Given the description of an element on the screen output the (x, y) to click on. 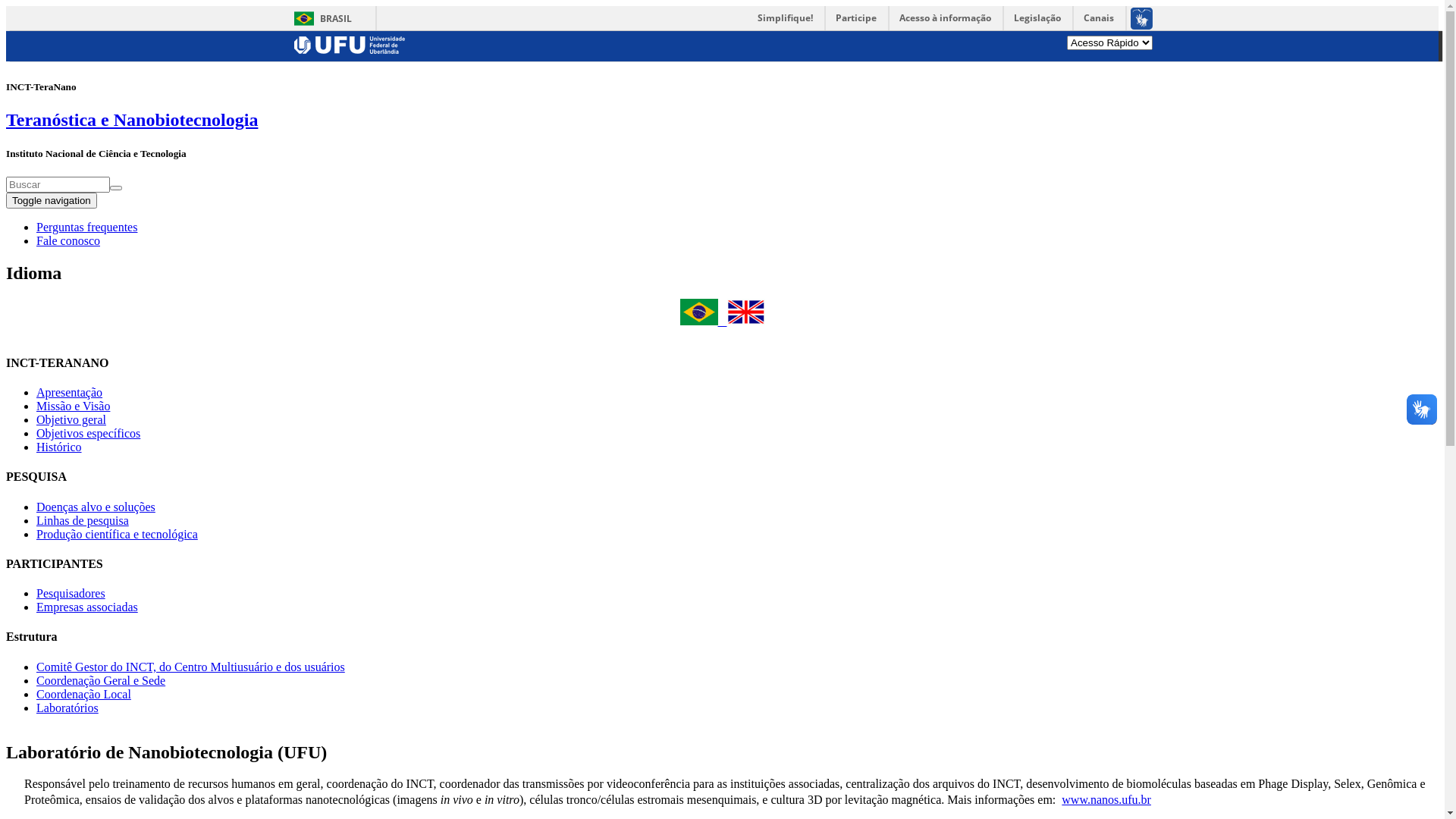
Toggle navigation Element type: text (51, 200)
BRASIL Element type: text (320, 18)
Pesquisadores Element type: text (70, 592)
Fale conosco Element type: text (68, 240)
Objetivo geral Element type: text (71, 419)
www.nanos.ufu.br Element type: text (1106, 799)
Buscar Element type: text (27, 194)
Linhas de pesquisa Element type: text (82, 520)
    Element type: text (740, 319)
Perguntas frequentes Element type: text (86, 226)
Canais Element type: text (1099, 17)
Simplifique! Element type: text (785, 17)
Empresas associadas Element type: text (87, 606)
Participe Element type: text (856, 17)
